Given the description of an element on the screen output the (x, y) to click on. 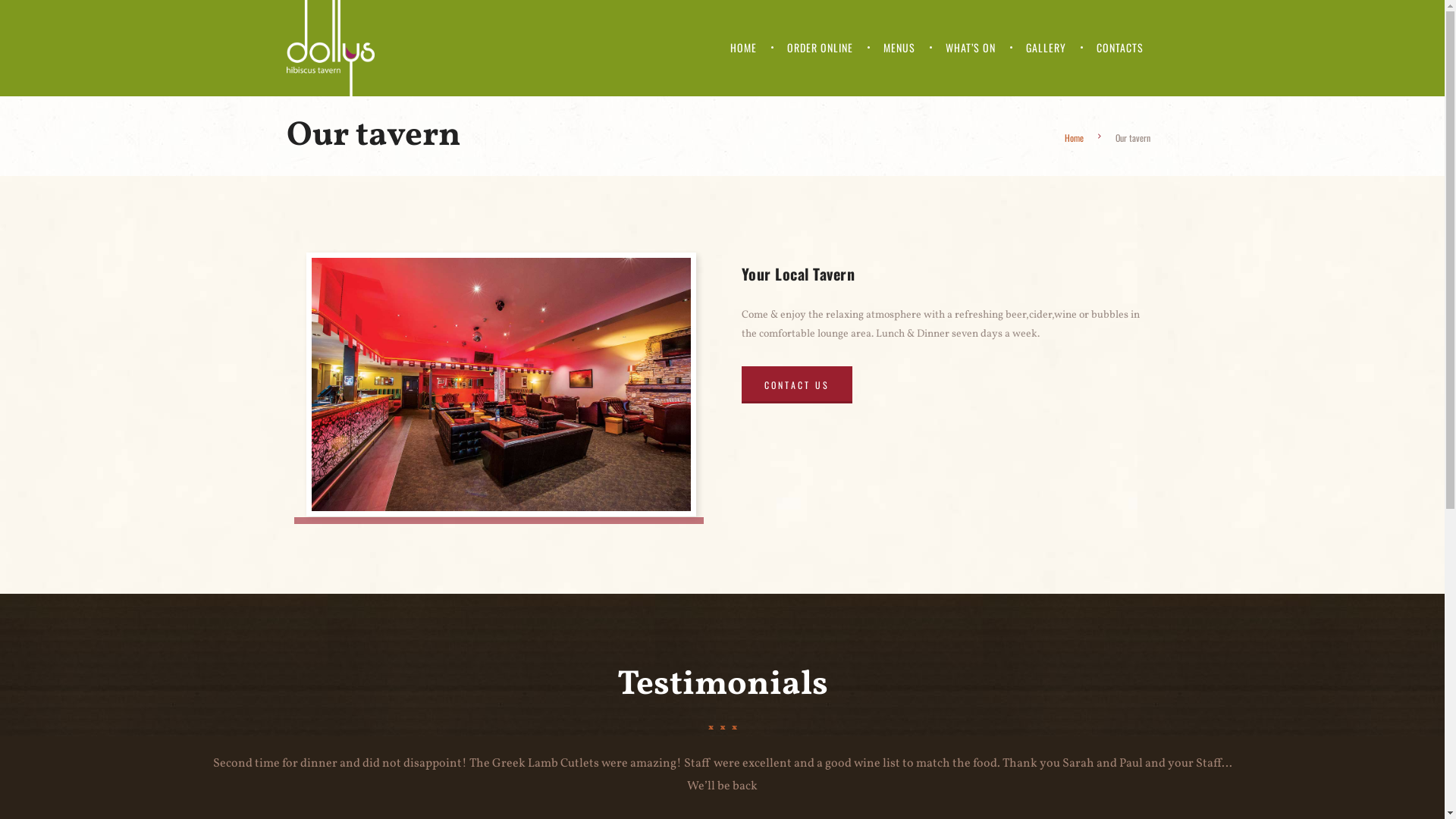
CONTACT US
CONTACT US Element type: text (796, 384)
GALLERY Element type: text (1045, 47)
Home Element type: text (1073, 137)
ORDER ONLINE Element type: text (819, 47)
CONTACTS Element type: text (1119, 47)
HOME Element type: text (742, 47)
MENUS Element type: text (898, 47)
